Given the description of an element on the screen output the (x, y) to click on. 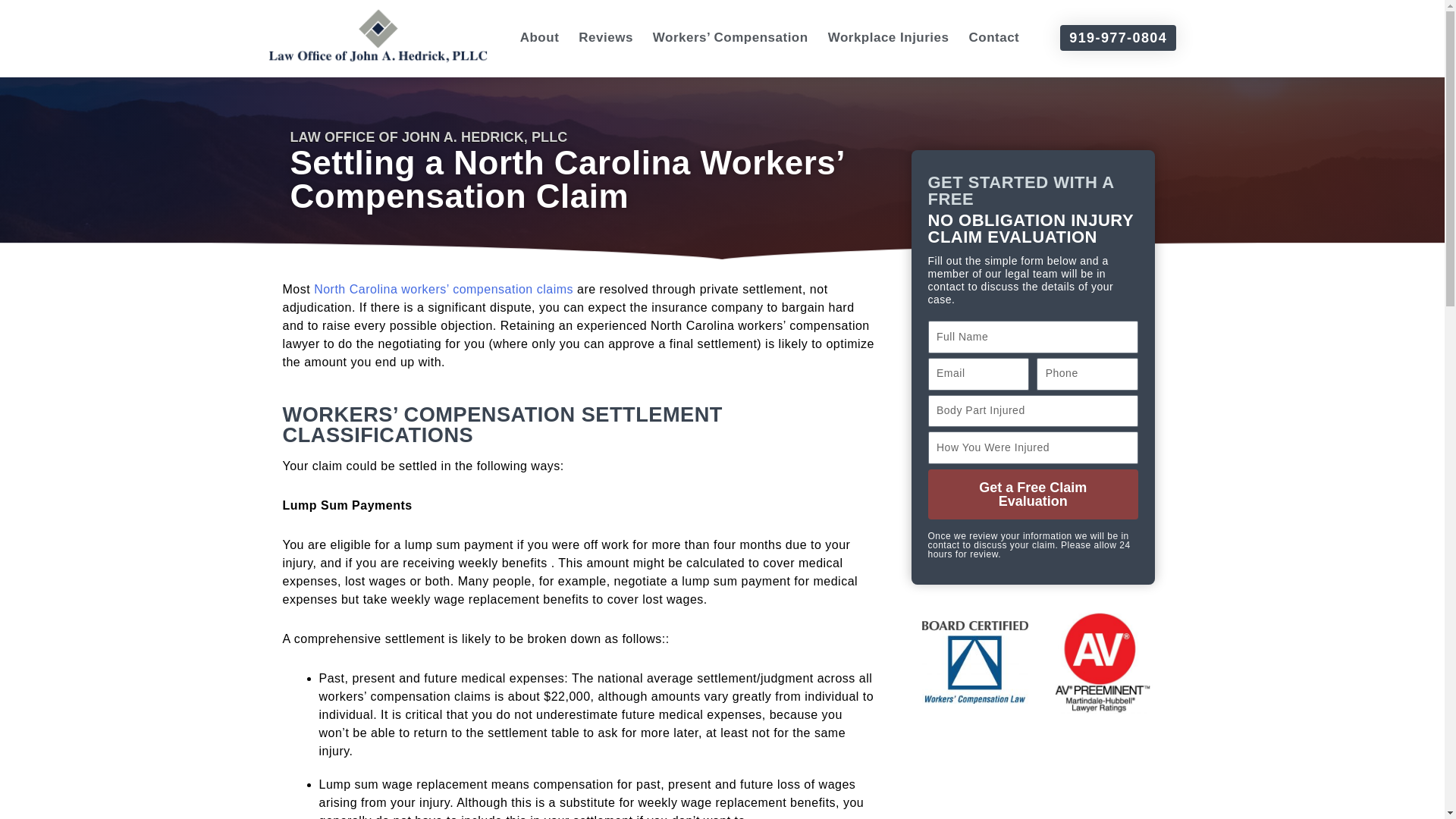
Workplace Injuries (888, 37)
Contact (994, 37)
About (539, 37)
Reviews (605, 37)
